Given the description of an element on the screen output the (x, y) to click on. 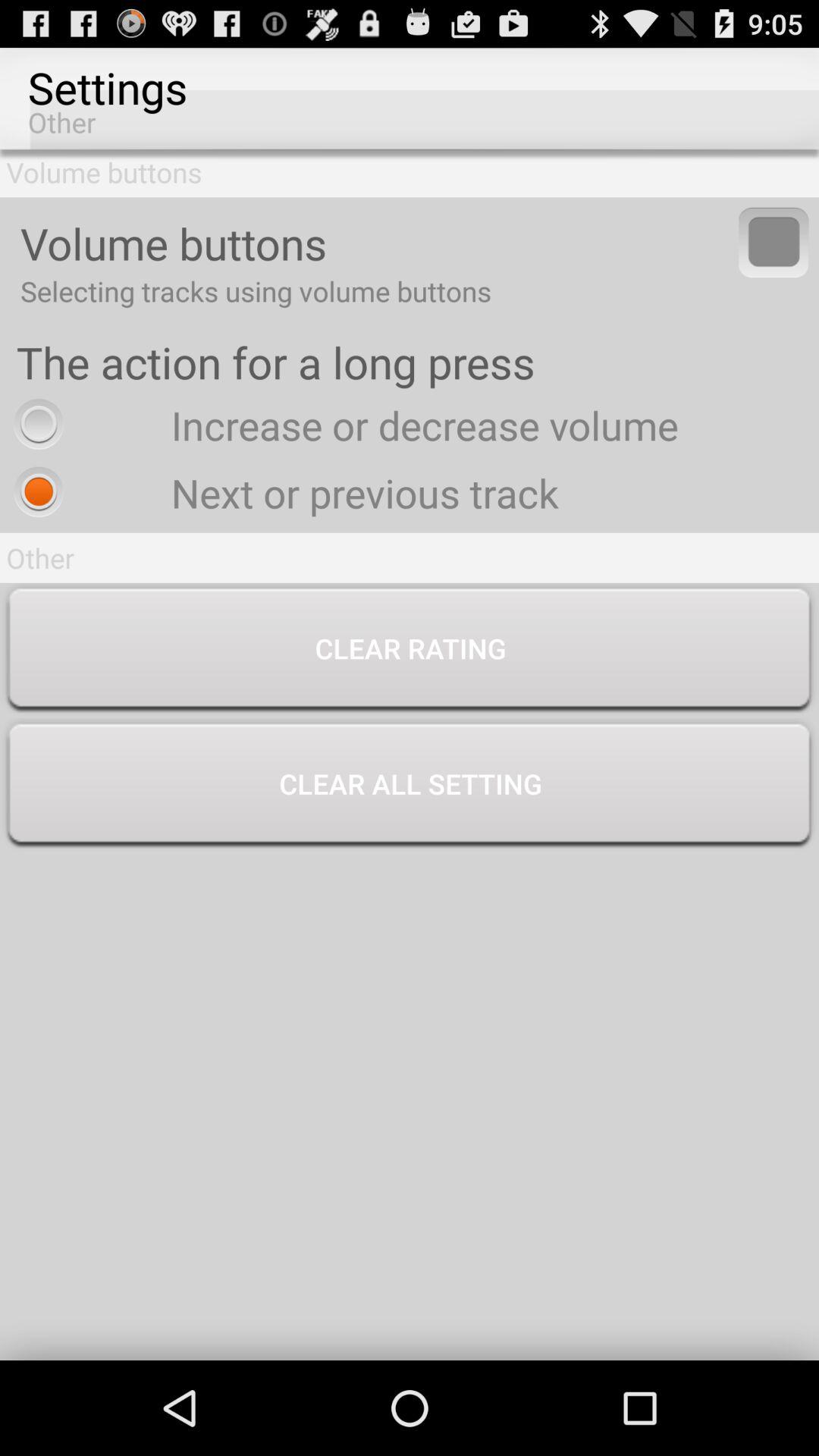
toggle to select tracks using volume buttons (773, 242)
